Given the description of an element on the screen output the (x, y) to click on. 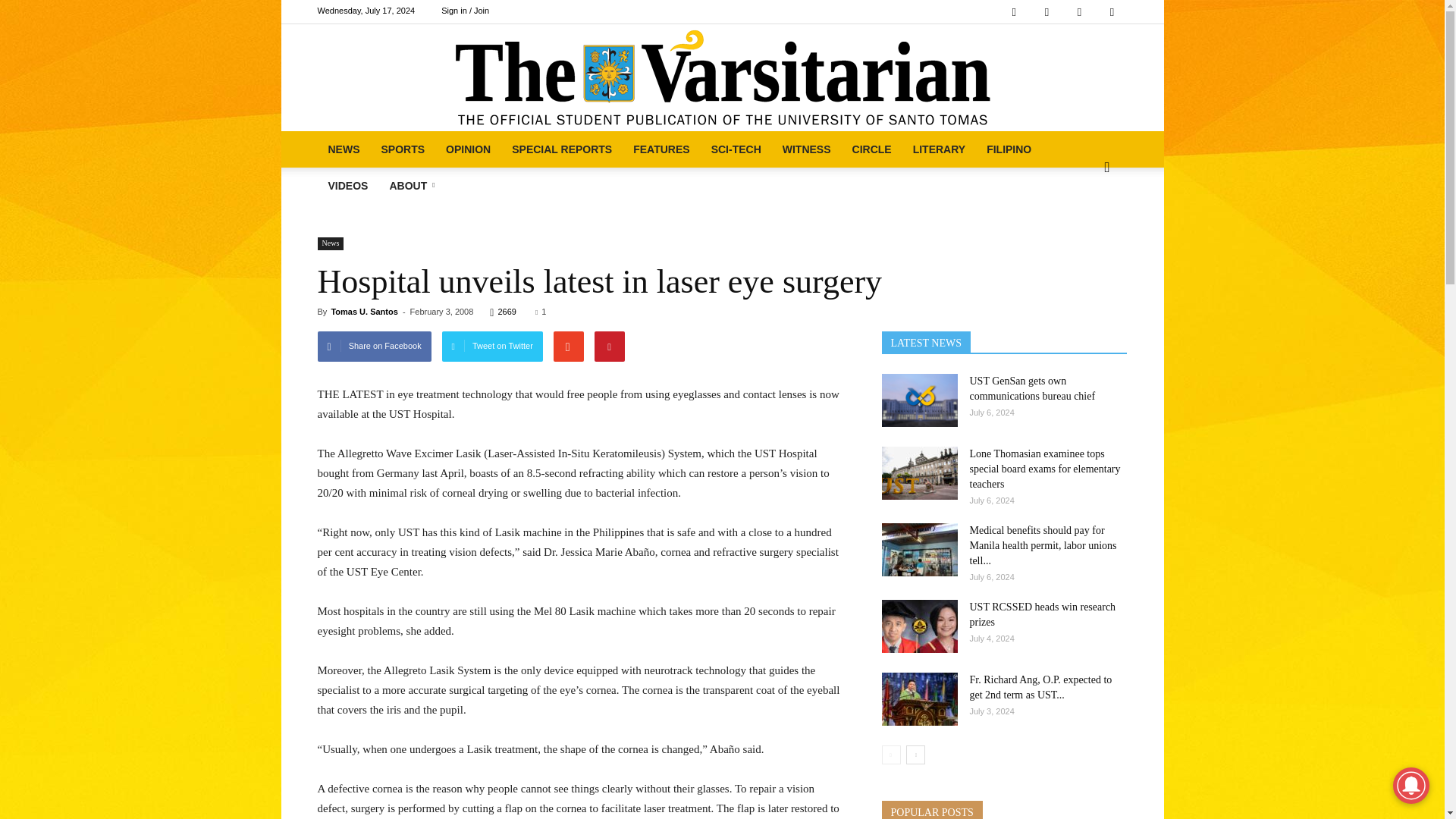
NEWS (343, 149)
Twitter (1079, 11)
Youtube (1111, 11)
The Varsitarian (722, 77)
OPINION (467, 149)
SPORTS (402, 149)
Instagram (1045, 11)
Facebook (1013, 11)
